Given the description of an element on the screen output the (x, y) to click on. 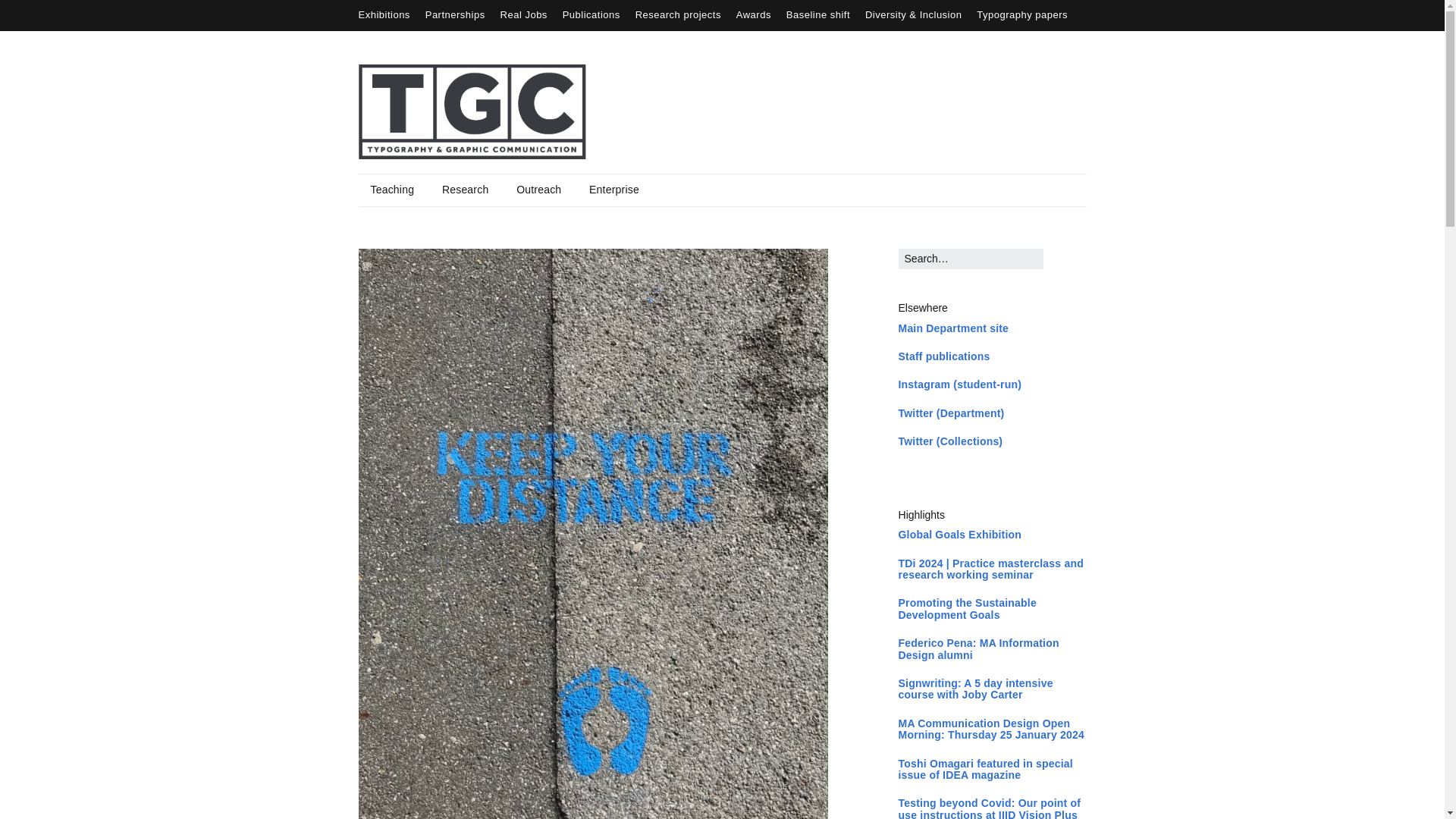
Outreach (538, 190)
Typography papers (1021, 14)
Federico Pena: MA Information Design alumni (978, 648)
Press Enter to submit your search (970, 258)
Enterprise (613, 190)
Main Department site (953, 328)
Global Goals Exhibition (960, 534)
Research projects (677, 14)
Baseline shift (818, 14)
